Given the description of an element on the screen output the (x, y) to click on. 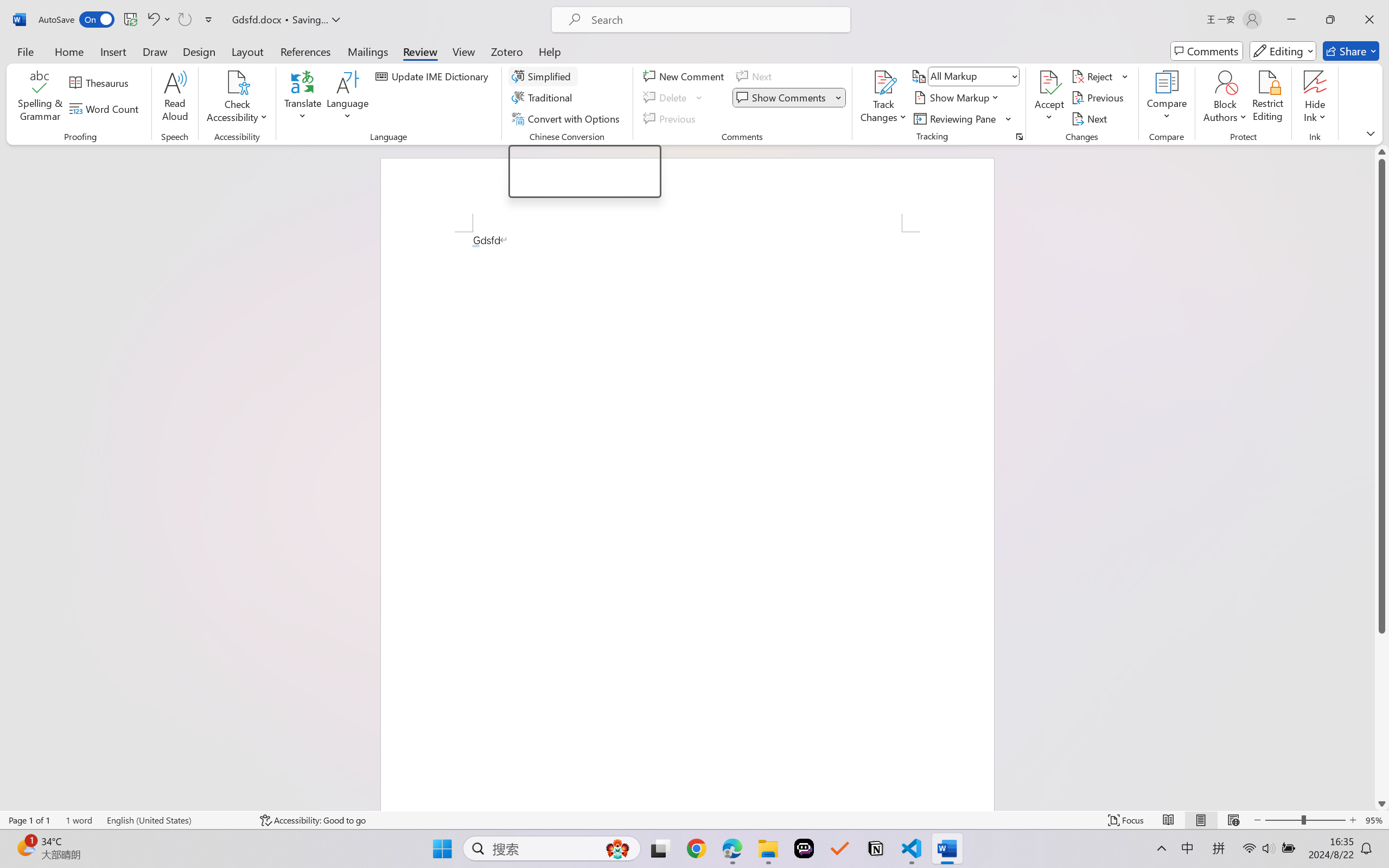
Reject (1100, 75)
